Given the description of an element on the screen output the (x, y) to click on. 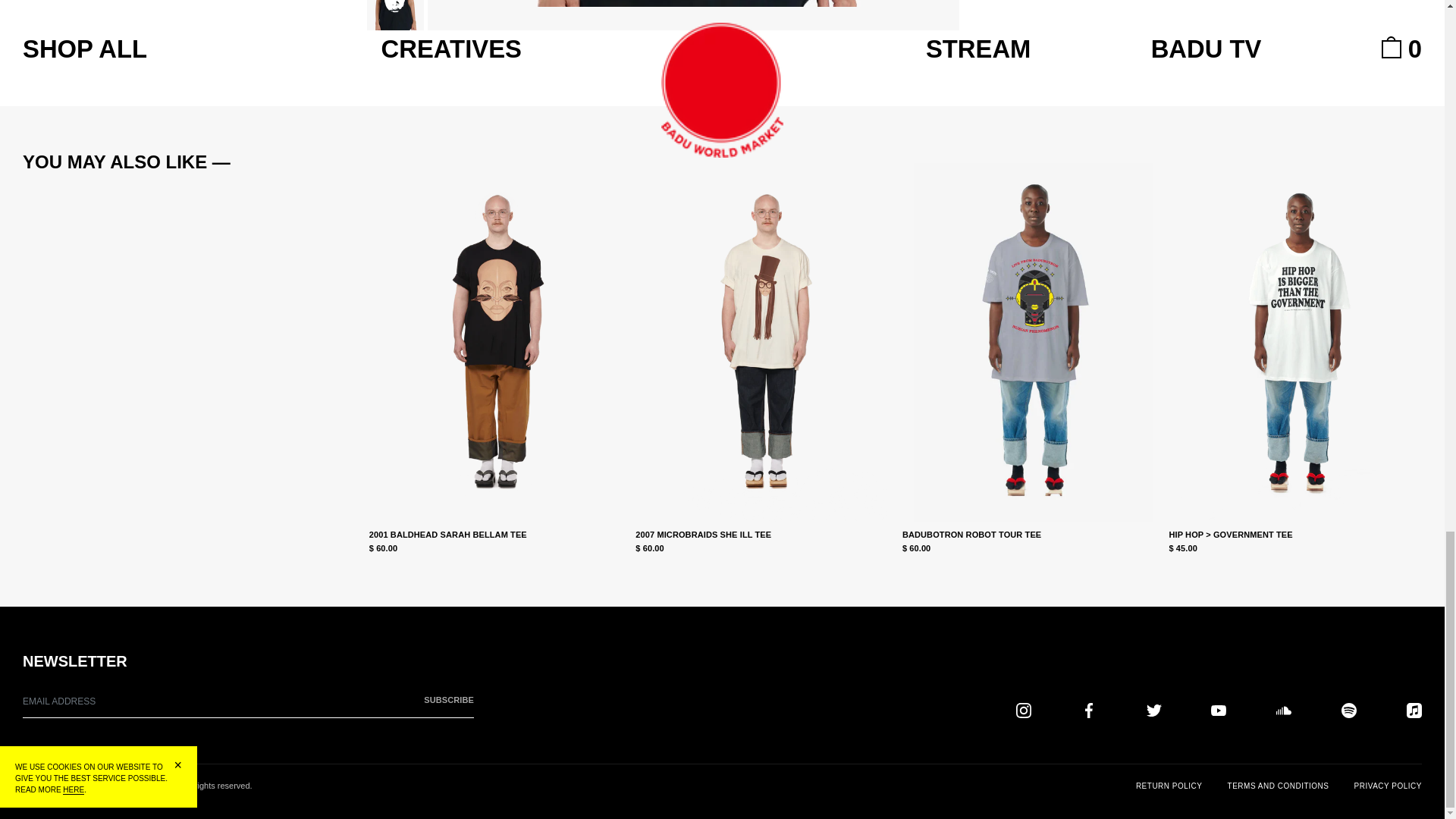
Badu World Market on Twitter (1154, 709)
Badu World Market on Soundcloud (1283, 709)
Badu World Market on Instagram (1023, 709)
Badu World Market on YouTube (1218, 709)
Badu World Market on iTunes (1414, 709)
Badu World Market on Facebook (1088, 709)
Badu World Market on Spotify (1348, 709)
